Given the description of an element on the screen output the (x, y) to click on. 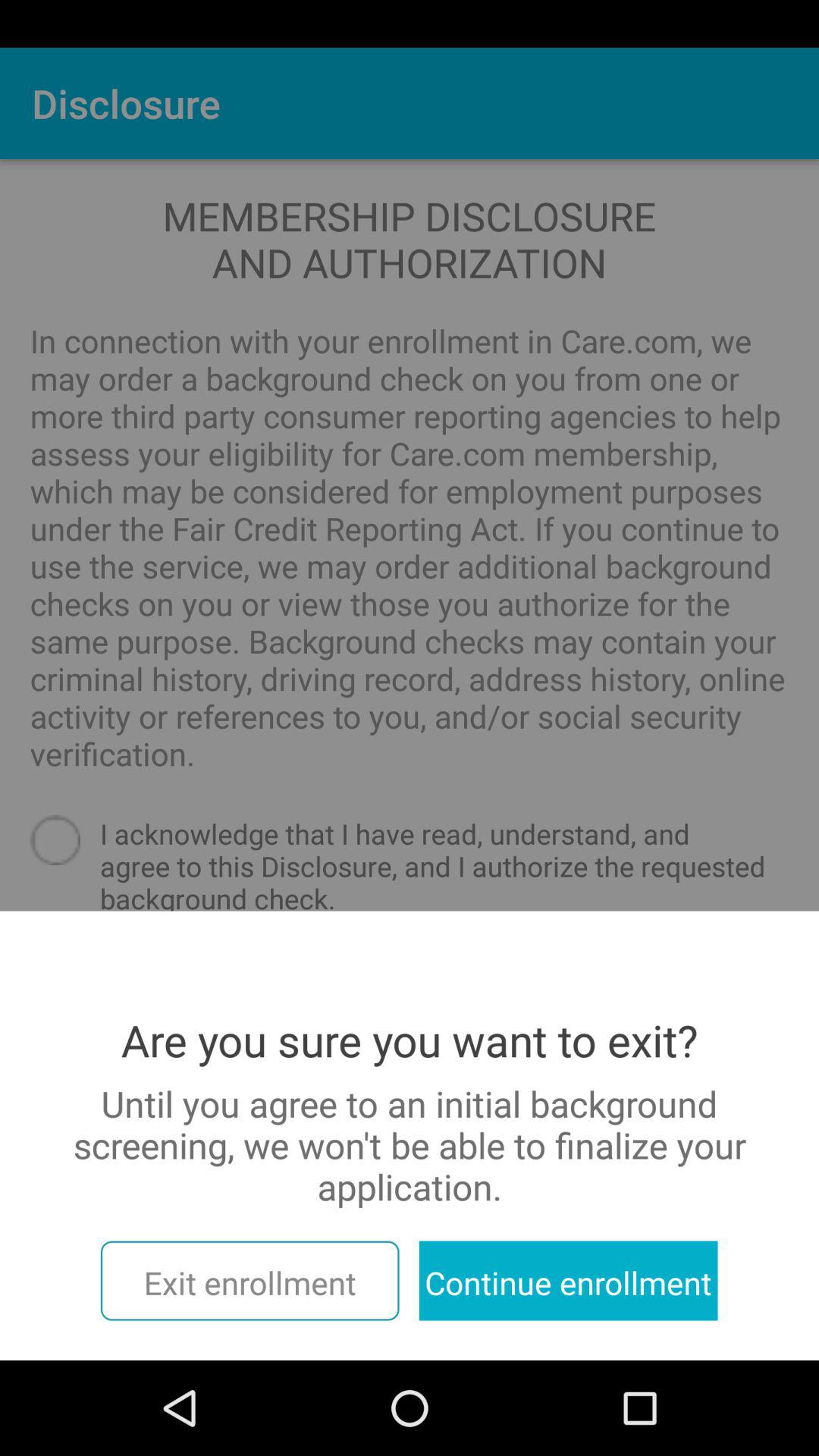
turn on item at the bottom left corner (249, 1280)
